Given the description of an element on the screen output the (x, y) to click on. 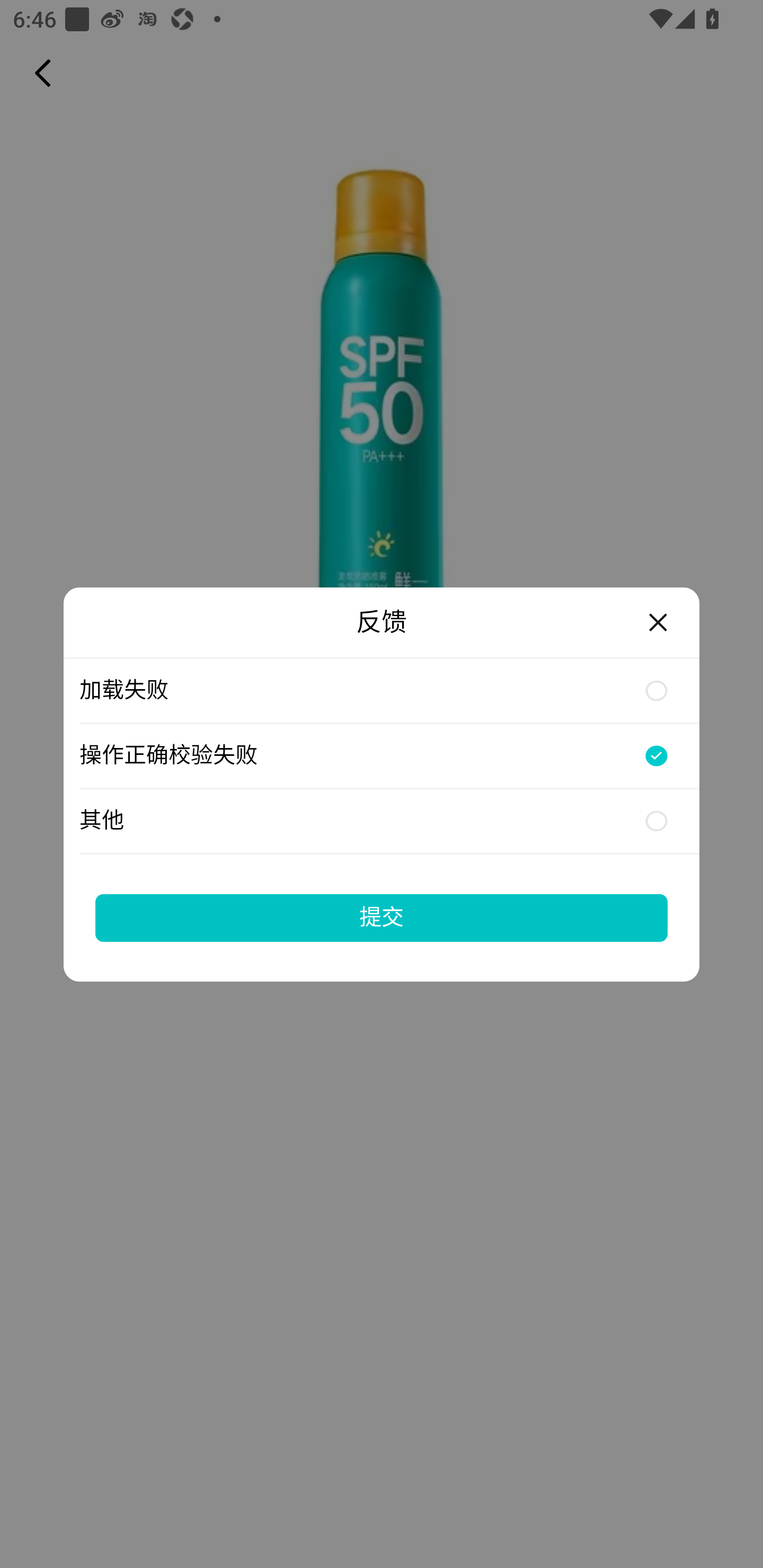
提交 (381, 917)
